Given the description of an element on the screen output the (x, y) to click on. 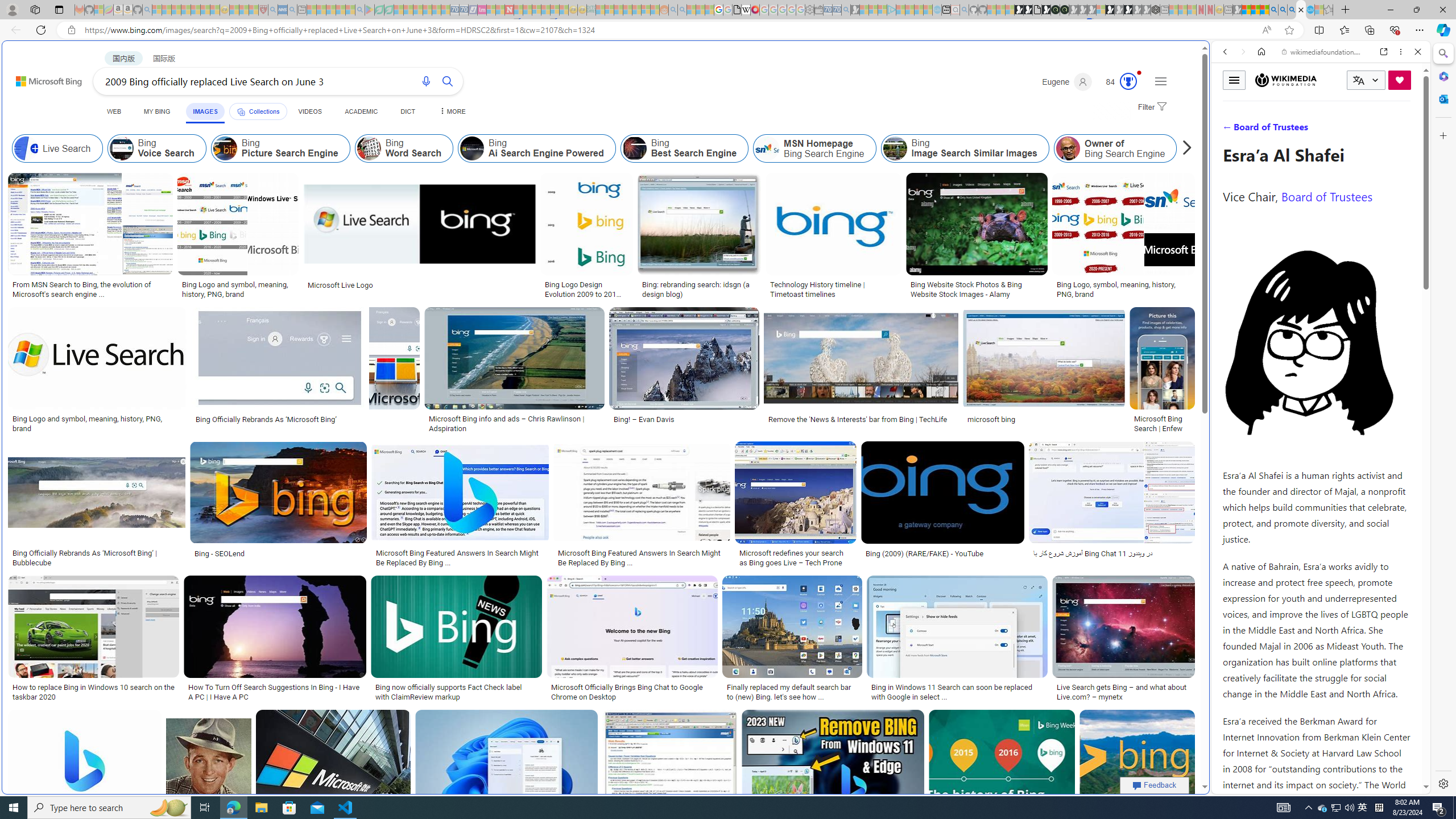
microsoft bing (991, 419)
Bing (2009) (RARE/FAKE) - YouTube (942, 552)
Bing - SEOLend (278, 552)
Bing AI - Search (1272, 9)
ACADEMIC (360, 111)
Frequently visited (965, 151)
